Given the description of an element on the screen output the (x, y) to click on. 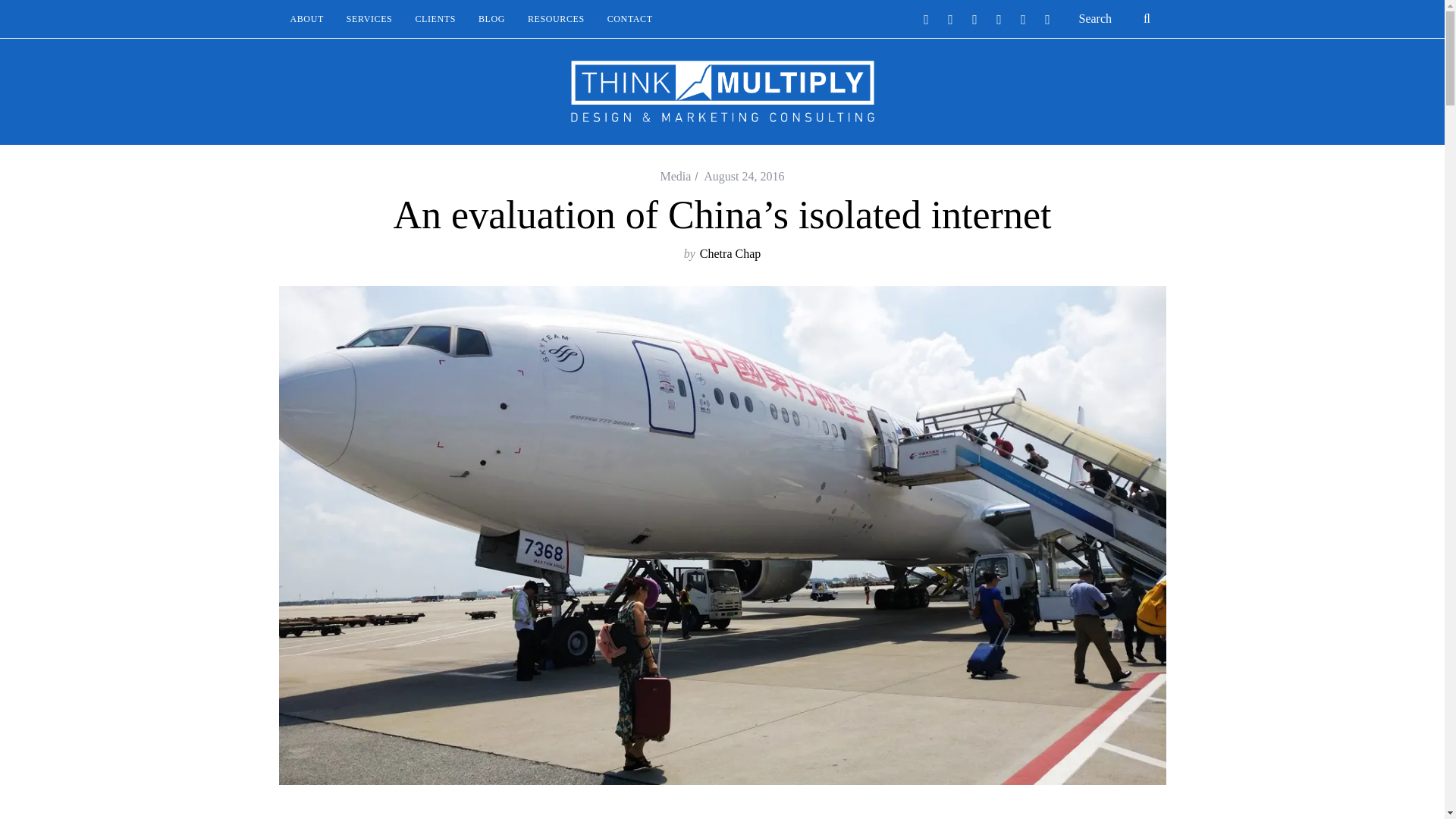
CONTACT (629, 18)
Search (1116, 18)
ABOUT (306, 18)
BLOG (491, 18)
SERVICES (369, 18)
RESOURCES (555, 18)
CLIENTS (435, 18)
